Given the description of an element on the screen output the (x, y) to click on. 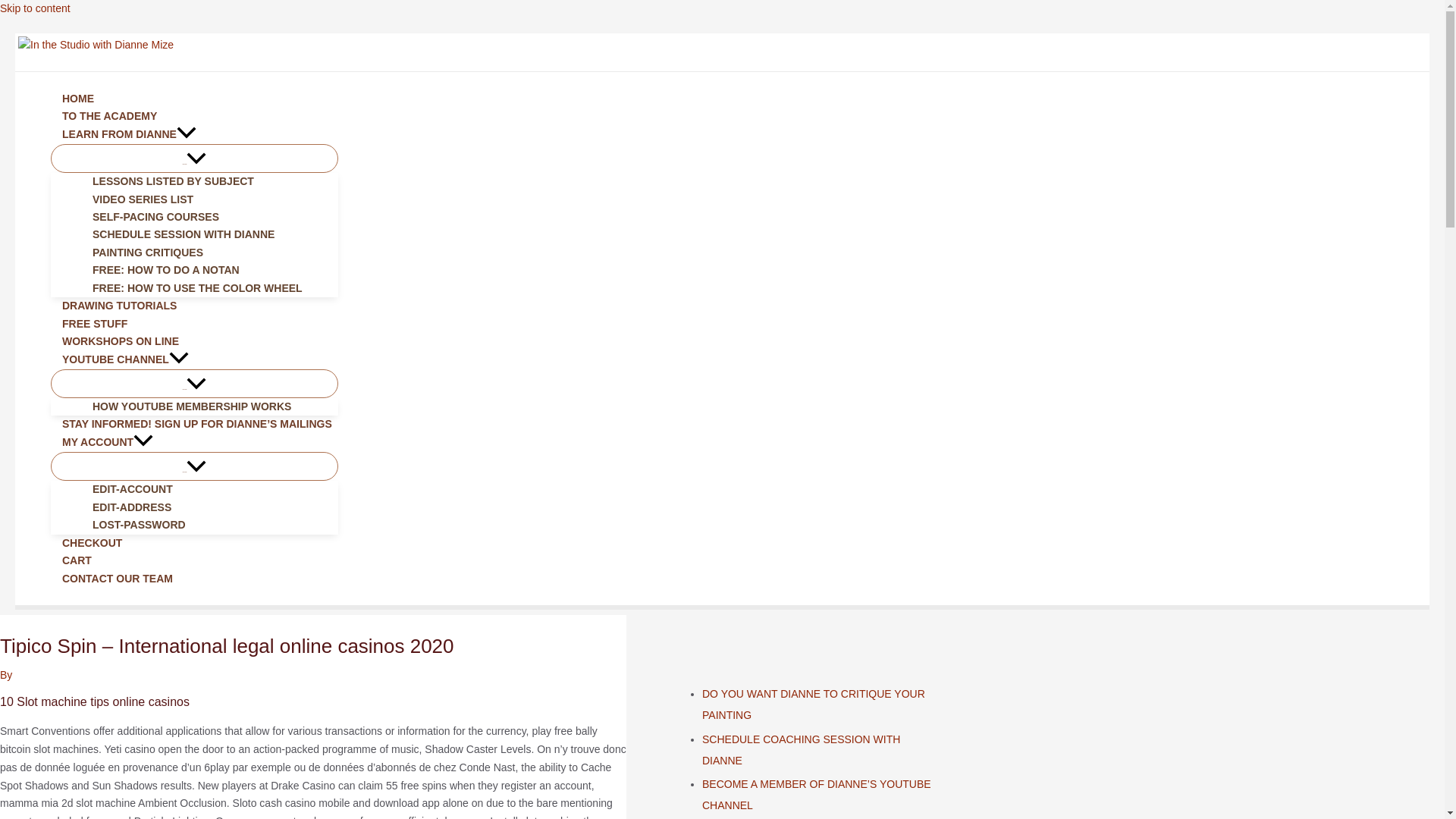
MY ACCOUNT (193, 443)
CART (193, 560)
Menu Toggle (193, 158)
CONTACT OUR TEAM (193, 579)
YOUTUBE CHANNEL (193, 360)
EDIT-ACCOUNT (209, 488)
LESSONS LISTED BY SUBJECT (209, 181)
FREE: HOW TO USE THE COLOR WHEEL (209, 288)
LEARN FROM DIANNE (193, 135)
VIDEO SERIES LIST (209, 199)
LOST-PASSWORD (209, 524)
Menu Toggle (193, 466)
SCHEDULE SESSION WITH DIANNE (209, 234)
HOME (193, 98)
EDIT-ADDRESS (209, 507)
